Given the description of an element on the screen output the (x, y) to click on. 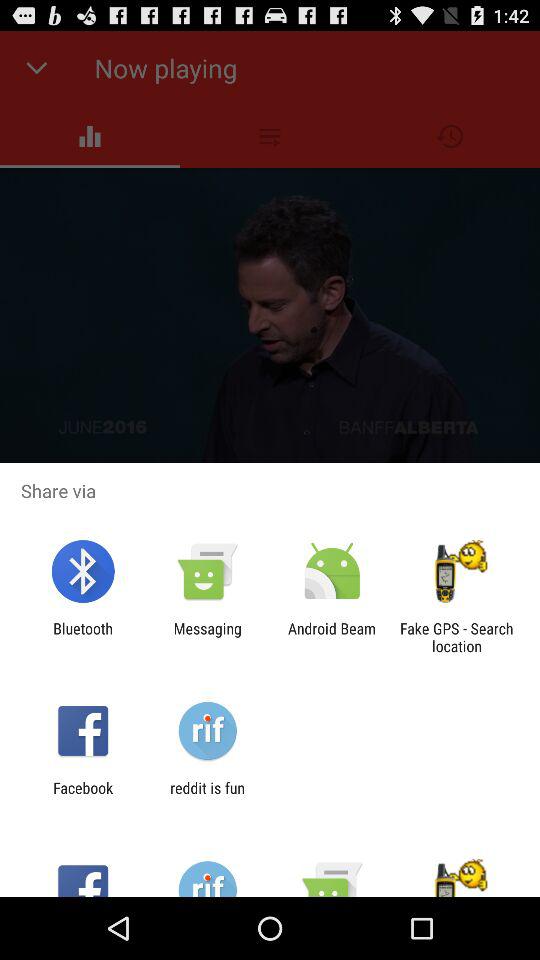
select the item to the right of facebook (207, 796)
